Given the description of an element on the screen output the (x, y) to click on. 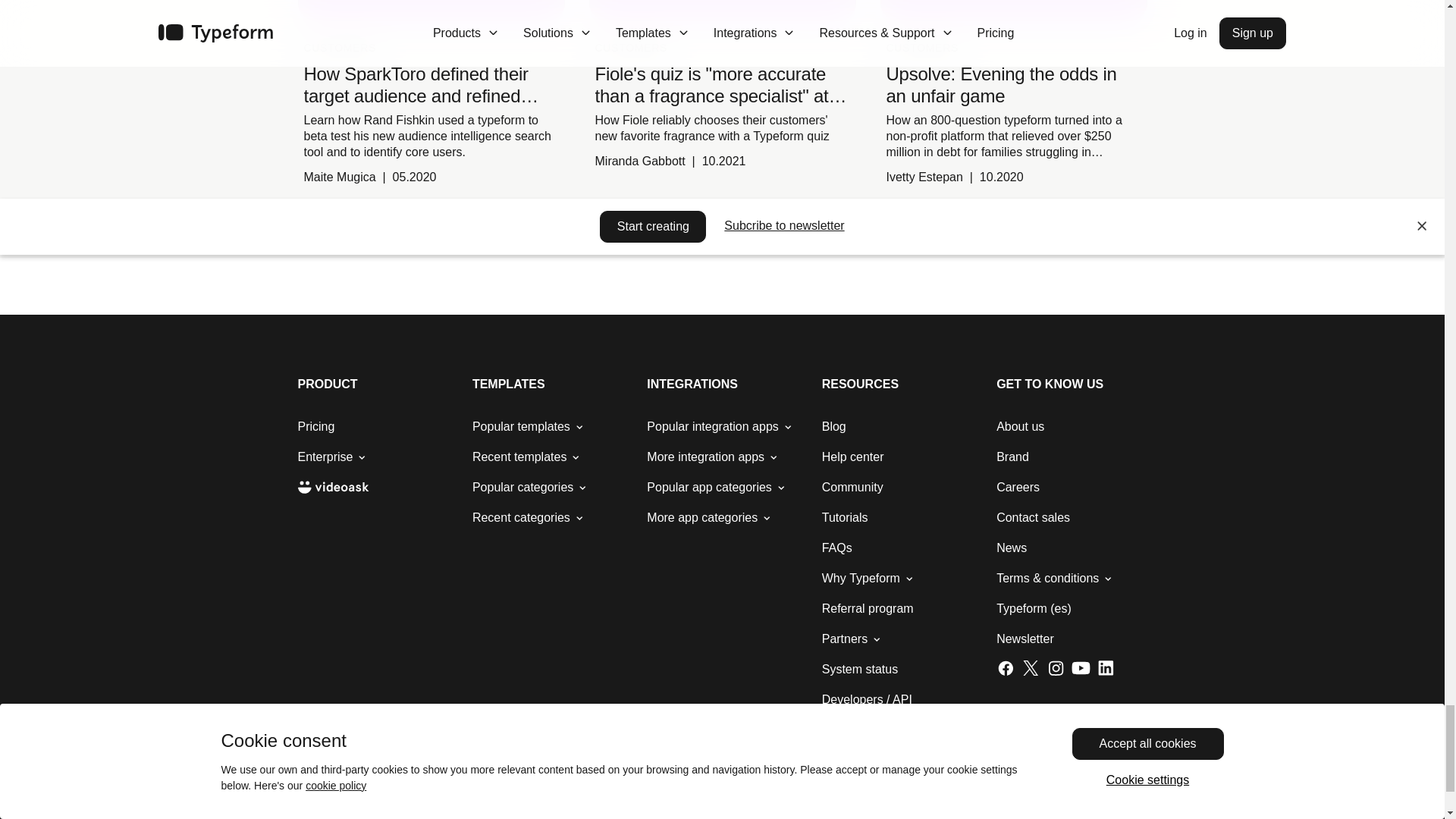
VideoAsk (332, 487)
